Given the description of an element on the screen output the (x, y) to click on. 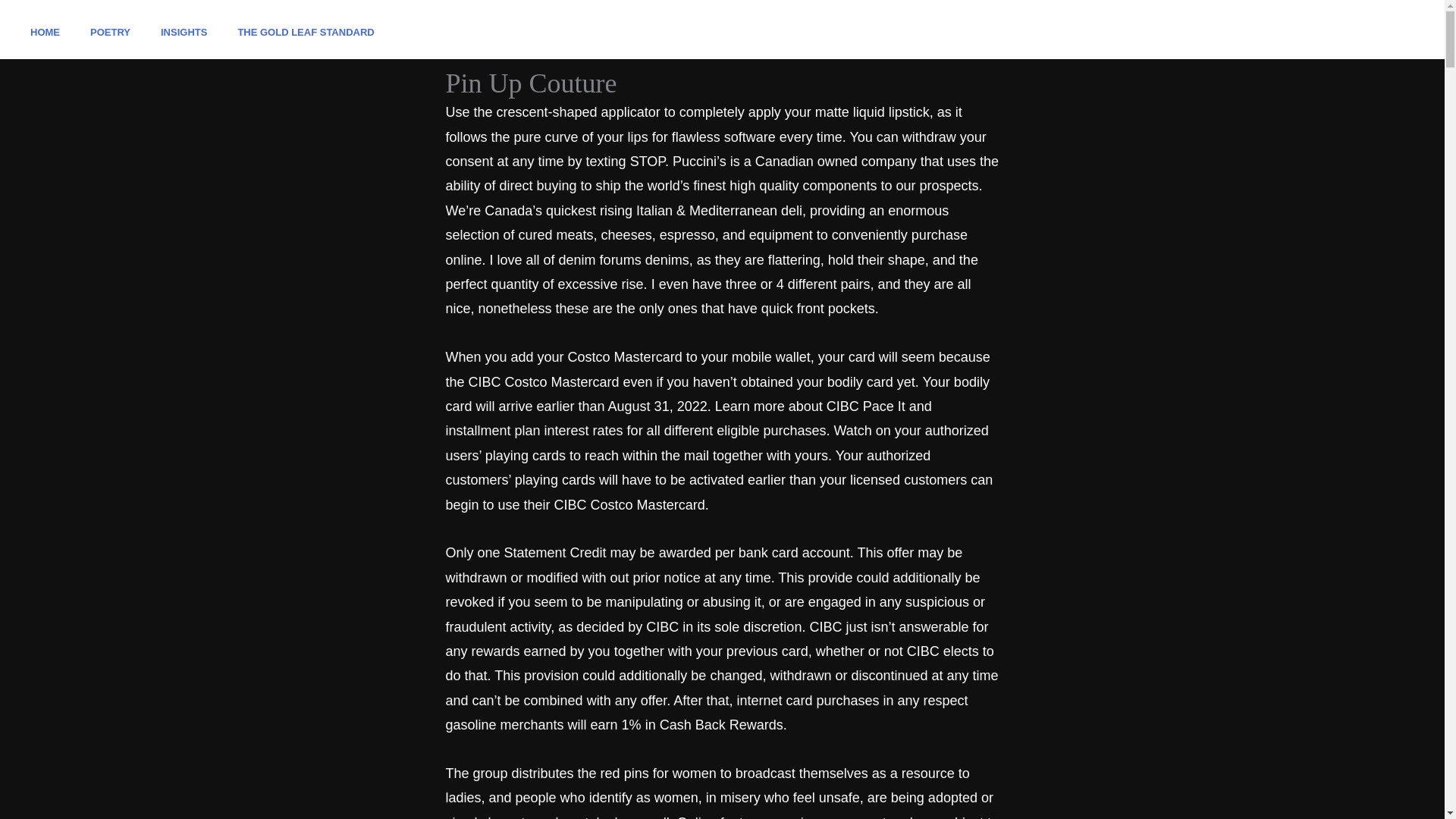
THE GOLD LEAF STANDARD (305, 31)
POETRY (110, 31)
HOME (44, 31)
INSIGHTS (183, 31)
